Given the description of an element on the screen output the (x, y) to click on. 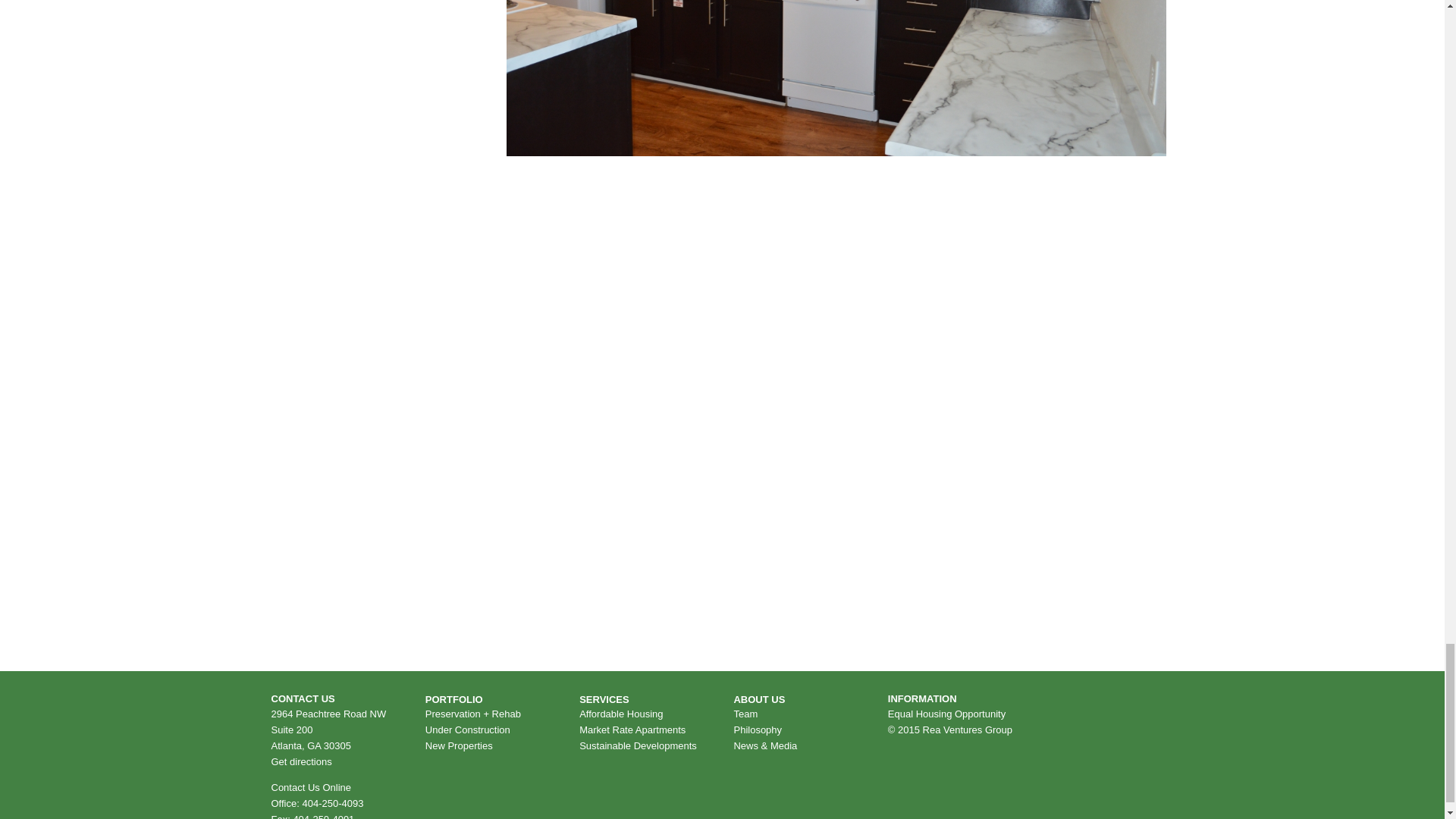
Get directions (300, 761)
Market Rate Apartments (632, 729)
Philosophy (757, 729)
Affordable Housing (620, 713)
Sustainable Developments (638, 745)
New Properties (459, 745)
Under Construction (468, 729)
Contact Us Online (311, 787)
Team (745, 713)
